Given the description of an element on the screen output the (x, y) to click on. 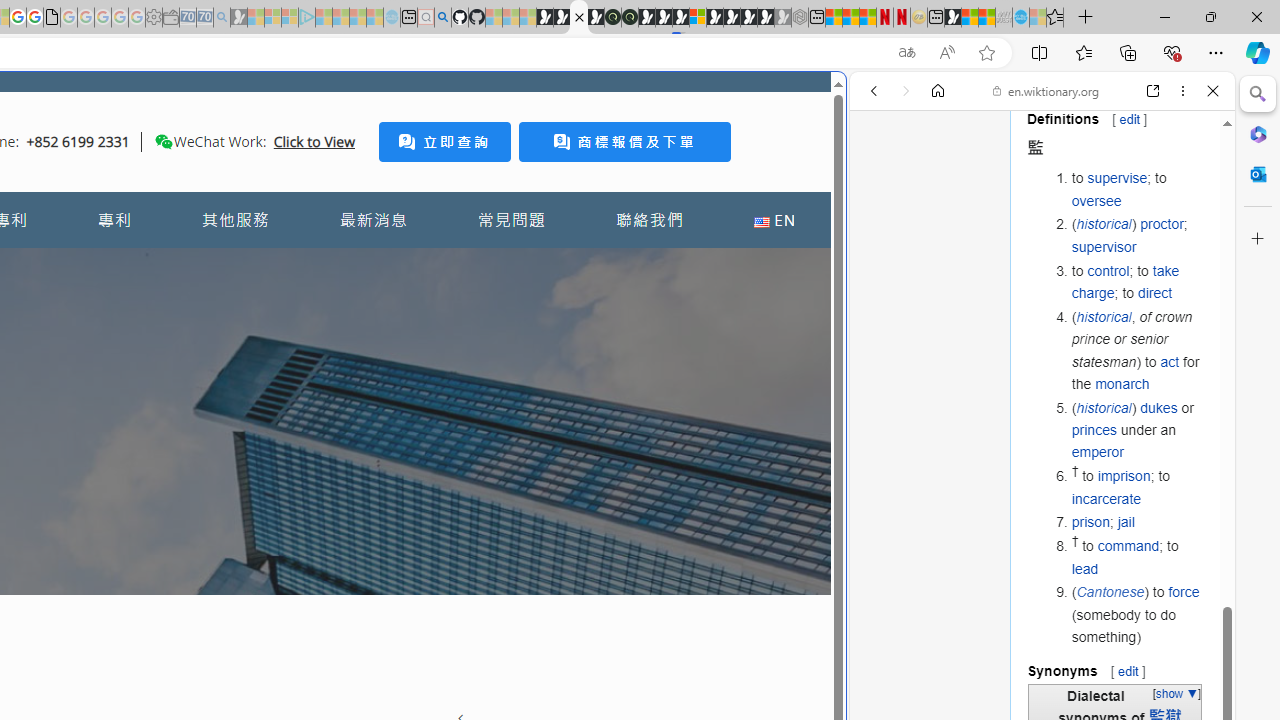
Future Focus Report 2024 (629, 17)
Home | Sky Blue Bikes - Sky Blue Bikes - Sleeping (392, 17)
Copilot (Ctrl+Shift+.) (1258, 52)
Close split screen (844, 102)
edit (1128, 670)
take charge (1125, 281)
